Given the description of an element on the screen output the (x, y) to click on. 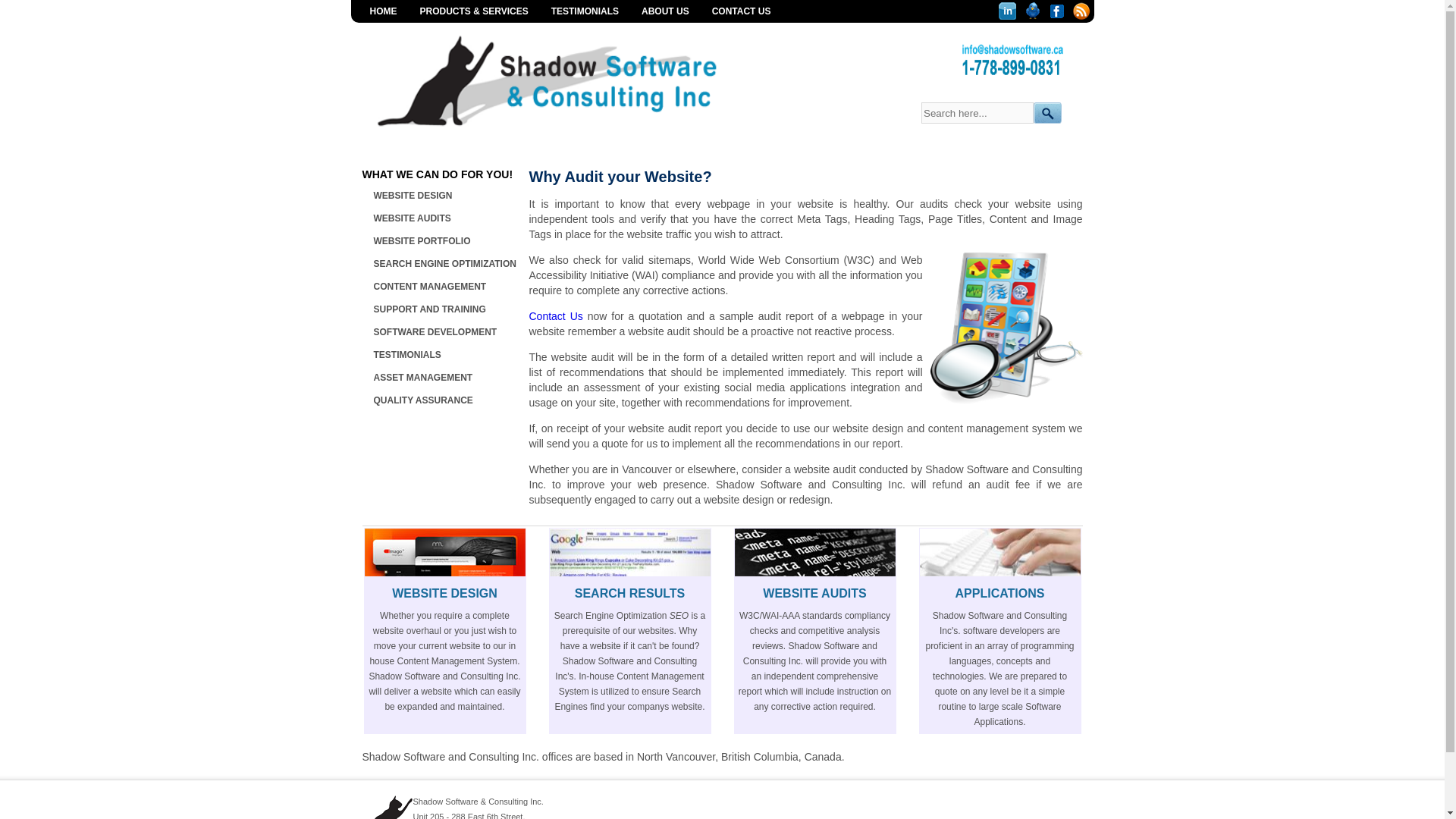
ABOUT US (665, 11)
Shadow Software and Consulting Inc. Home Page (576, 132)
Website Audits Vancouver (576, 79)
Website Audits Vancouver (999, 552)
CONTACT US (741, 11)
Website Audits Vancouver (629, 552)
Enter here what you are looking for (978, 112)
Contact Us (556, 316)
Website Audits Vancouver (1020, 59)
Website Audits Vancouver (381, 796)
